Given the description of an element on the screen output the (x, y) to click on. 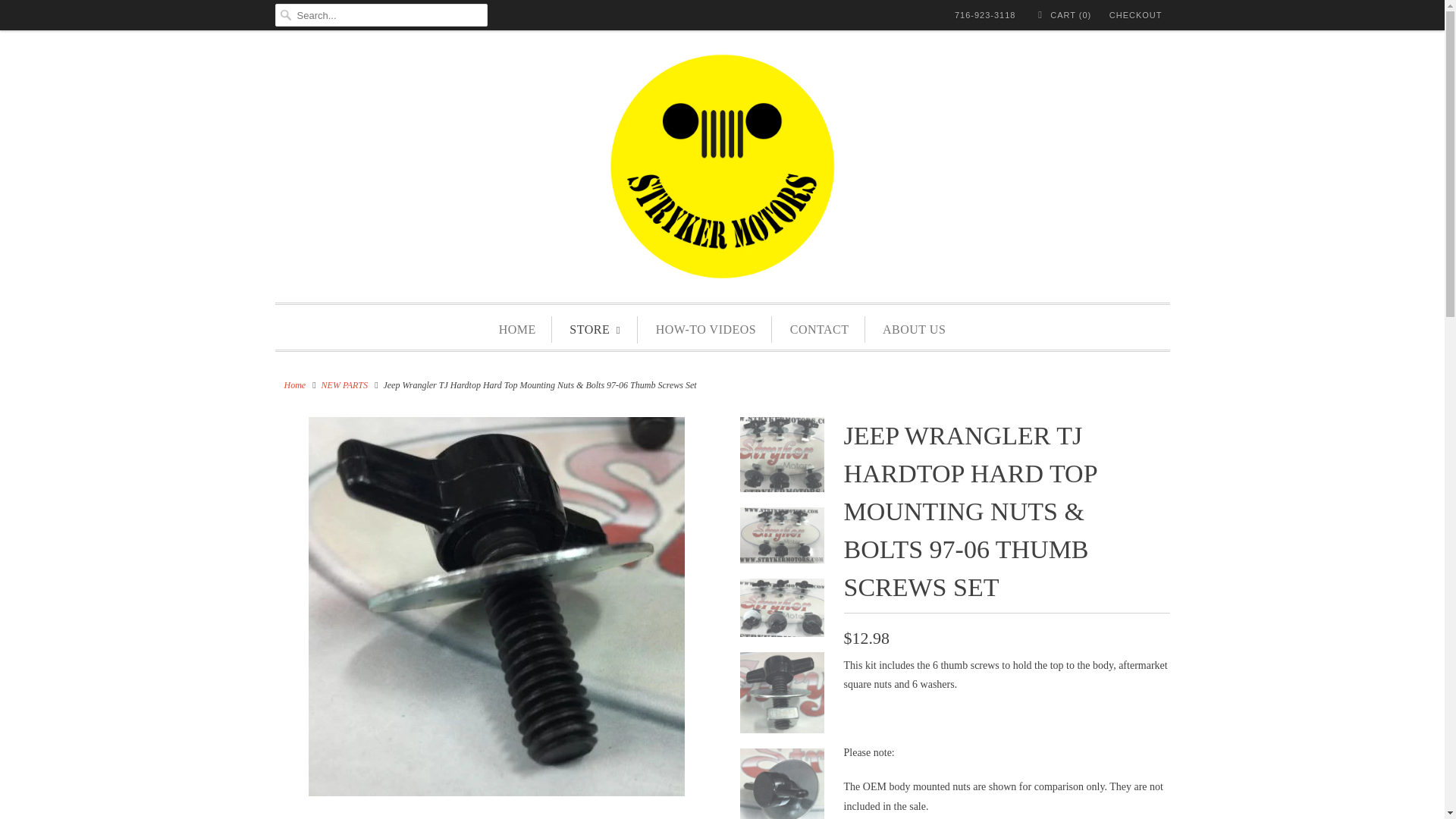
716-923-3118 (985, 15)
STORE (595, 329)
HOME (517, 329)
CONTACT (819, 329)
Stryker Motors (294, 385)
CHECKOUT (1135, 15)
ABOUT US (913, 329)
NEW PARTS (344, 385)
Stryker Motors (721, 170)
HOW-TO VIDEOS (706, 329)
Home (294, 385)
NEW PARTS (344, 385)
